Given the description of an element on the screen output the (x, y) to click on. 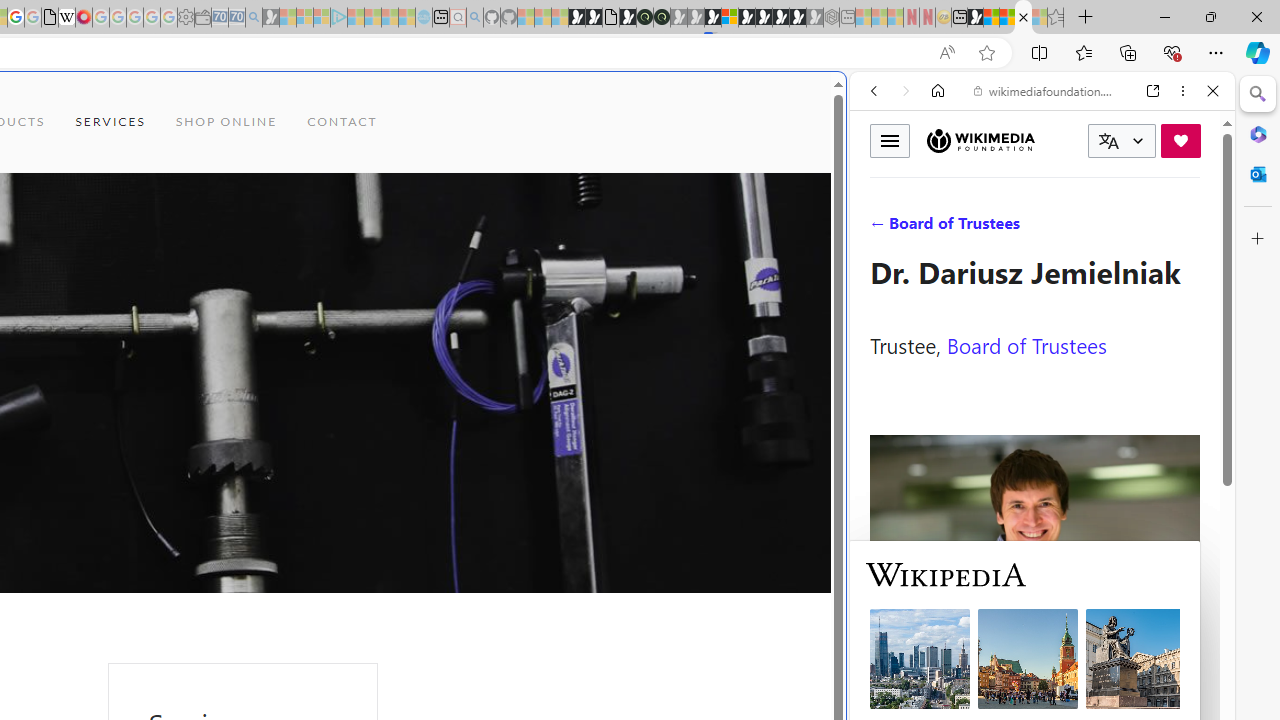
CONTACT (341, 122)
google_privacy_policy_zh-CN.pdf (49, 17)
Search Filter, Search Tools (1093, 228)
World - MSN (991, 17)
Target page - Wikipedia (66, 17)
MediaWiki (83, 17)
Search or enter web address (343, 191)
Frequently visited (418, 265)
wikimediafoundation.org (1045, 90)
